Given the description of an element on the screen output the (x, y) to click on. 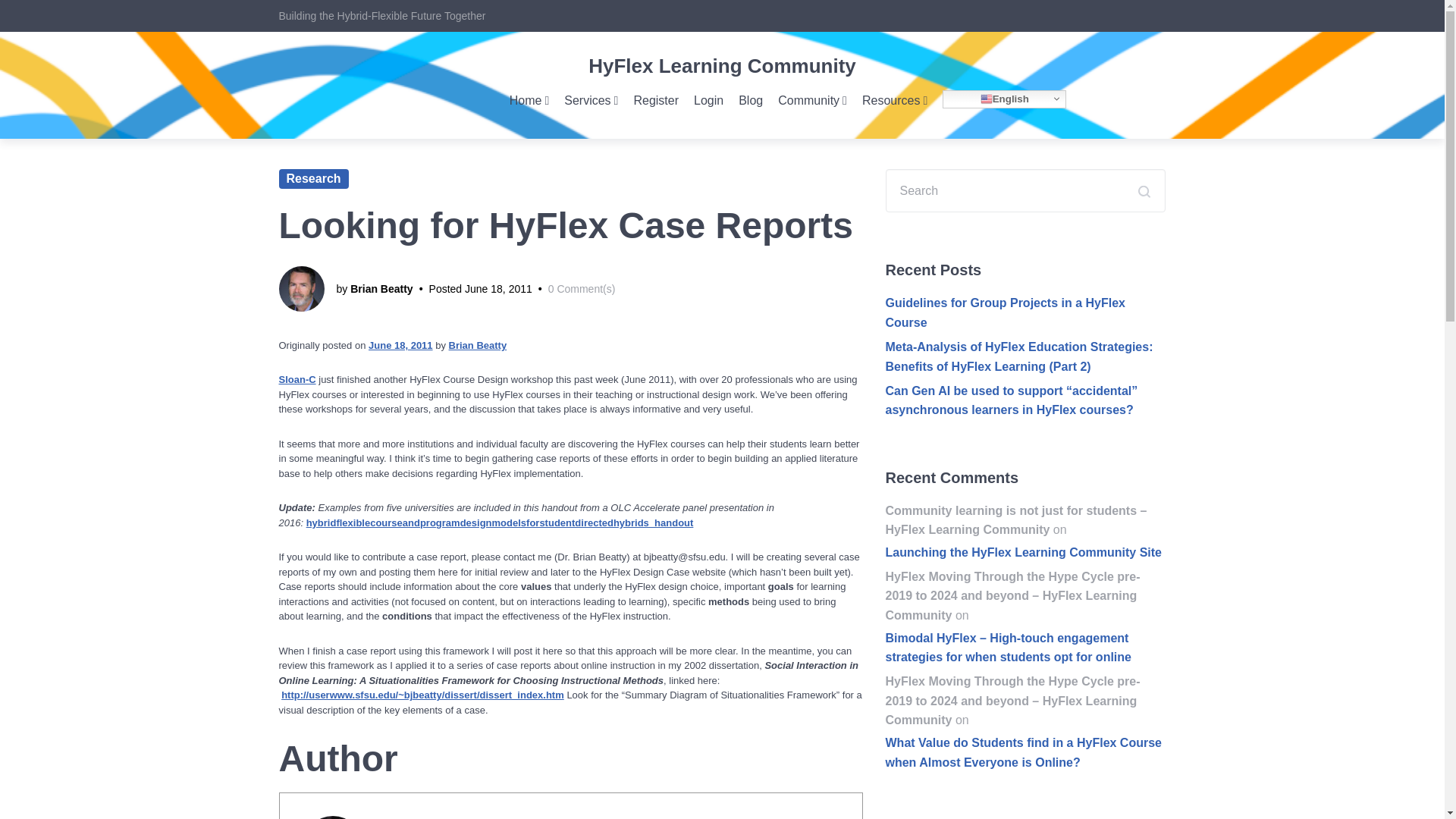
Services (590, 101)
HyFlex Learning Community (722, 65)
Blog (750, 101)
Resources (894, 101)
Community (812, 101)
Home (529, 101)
Register (655, 101)
Login (708, 101)
